Given the description of an element on the screen output the (x, y) to click on. 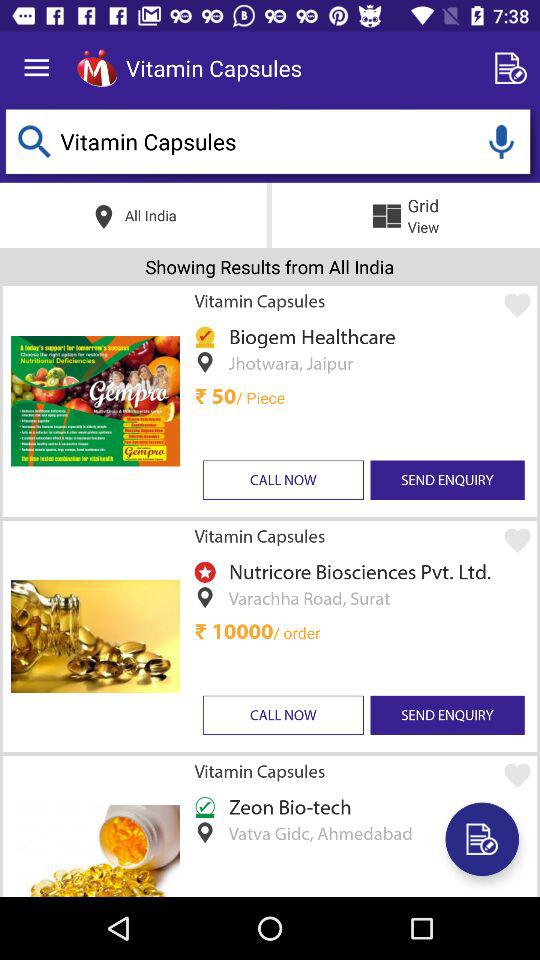
flip until the nutricore biosciences pvt item (356, 571)
